Given the description of an element on the screen output the (x, y) to click on. 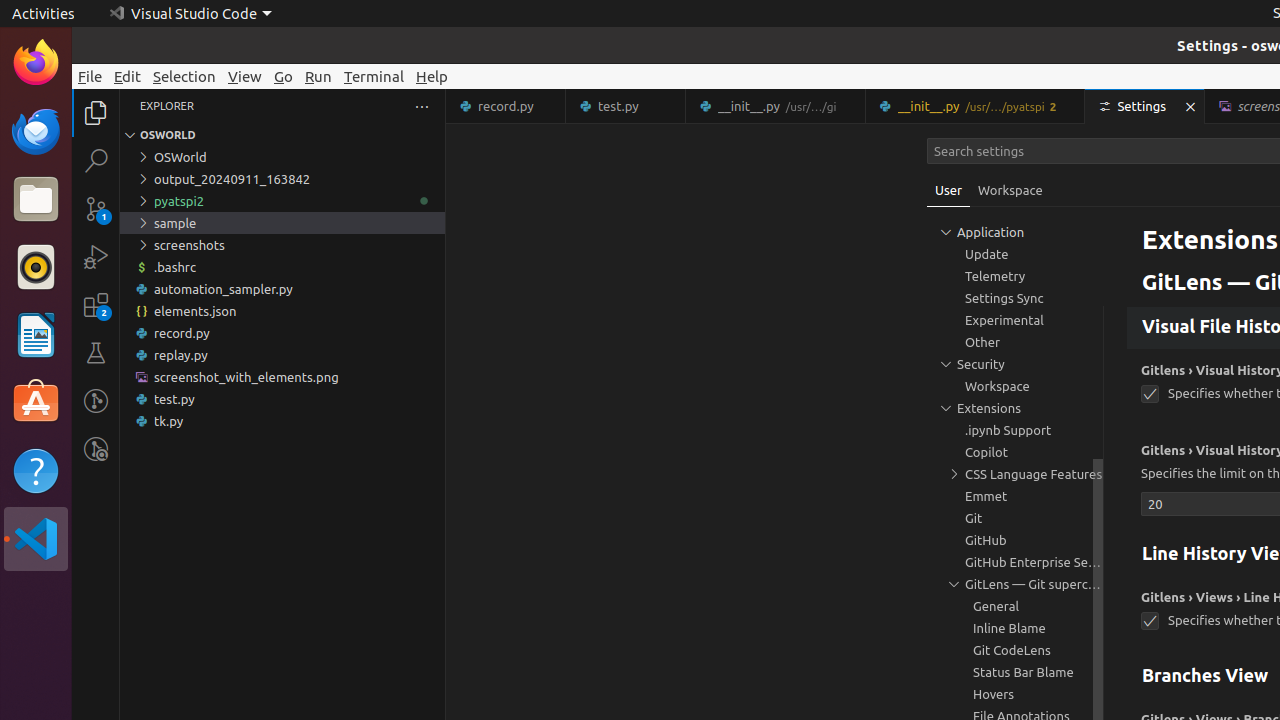
GitHub Enterprise Server Authentication Provider, group Element type: tree-item (1015, 562)
Search (Ctrl+Shift+F) Element type: page-tab (96, 160)
Workspace, group Element type: tree-item (1015, 386)
